Given the description of an element on the screen output the (x, y) to click on. 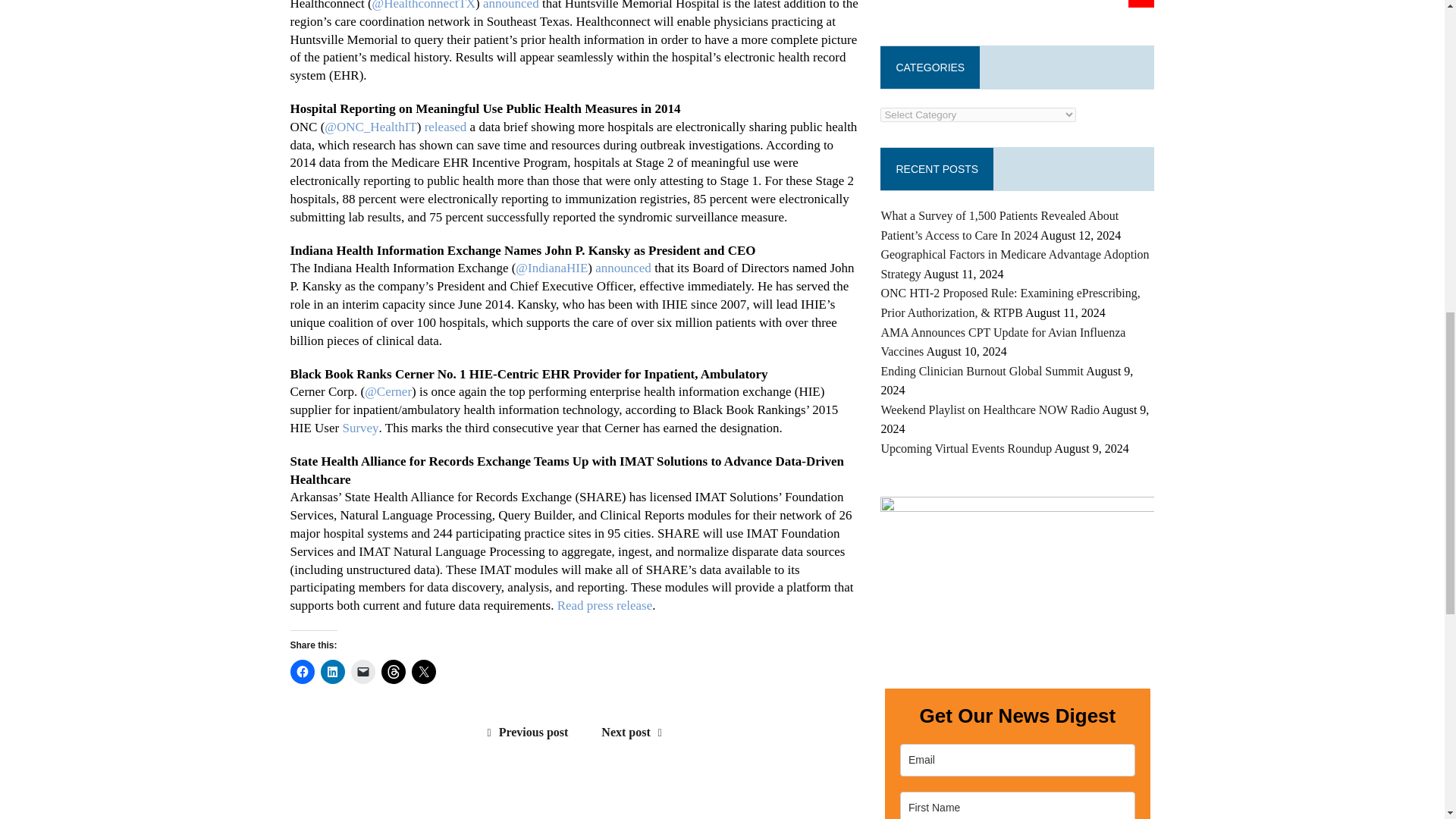
Follow them on Twitter (370, 126)
Follow them on Twitter (424, 5)
HealthIT.gov ONC data brief (446, 126)
Press Release (510, 5)
